Given the description of an element on the screen output the (x, y) to click on. 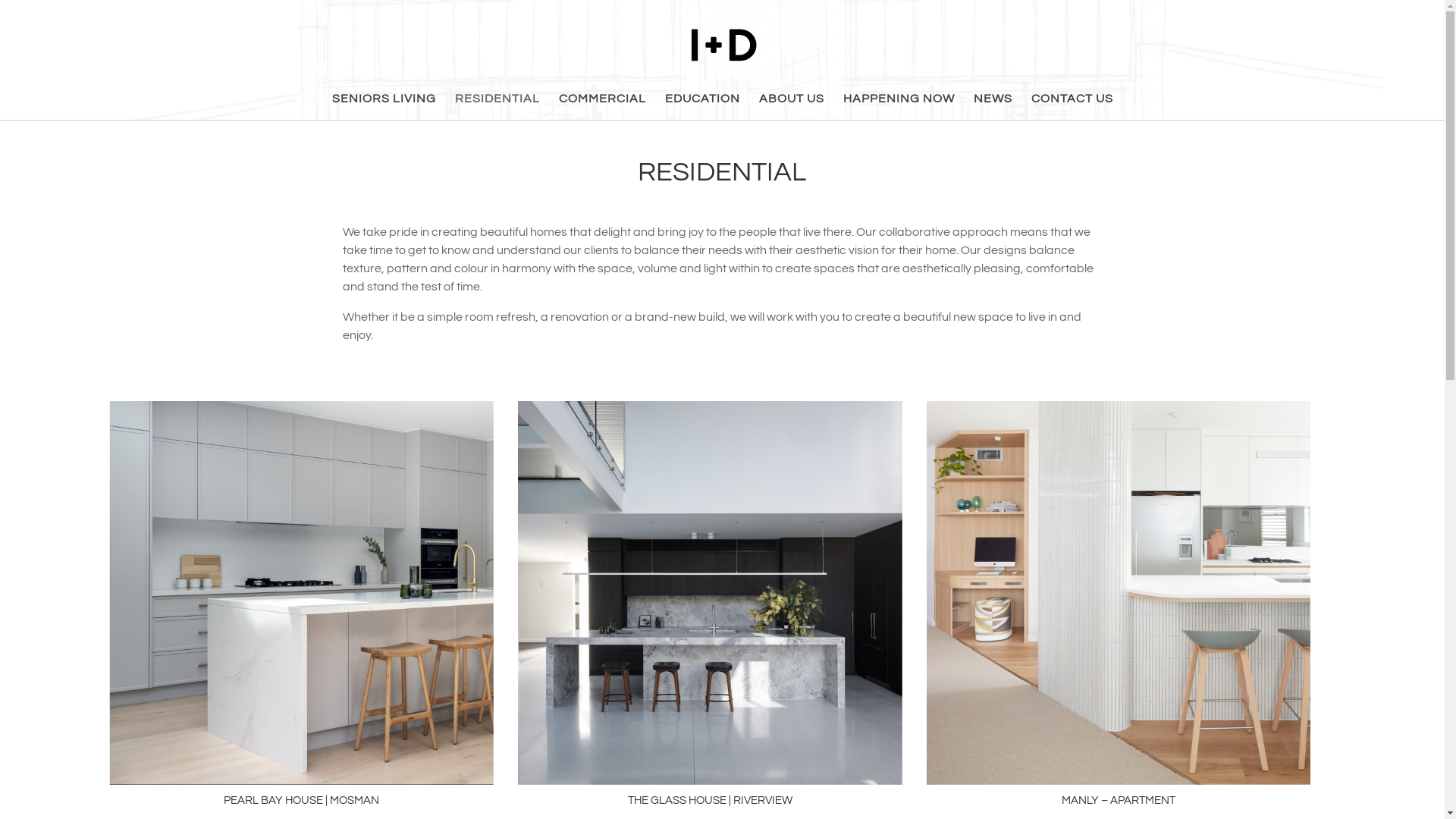
HAPPENING NOW Element type: text (898, 106)
CONTACT US Element type: text (1072, 106)
PEARL BAY HOUSE | MOSMAN Element type: text (301, 800)
COMMERCIAL Element type: text (601, 106)
THE GLASS HOUSE | RIVERVIEW Element type: text (709, 800)
Pearl Bay House | Mosman Element type: hover (300, 592)
RESIDENTIAL Element type: text (497, 106)
NEWS Element type: text (992, 106)
EDUCATION Element type: text (701, 106)
ABOUT US Element type: text (790, 106)
The Glass House | Riverview Element type: hover (709, 592)
SENIORS LIVING Element type: text (384, 106)
